Given the description of an element on the screen output the (x, y) to click on. 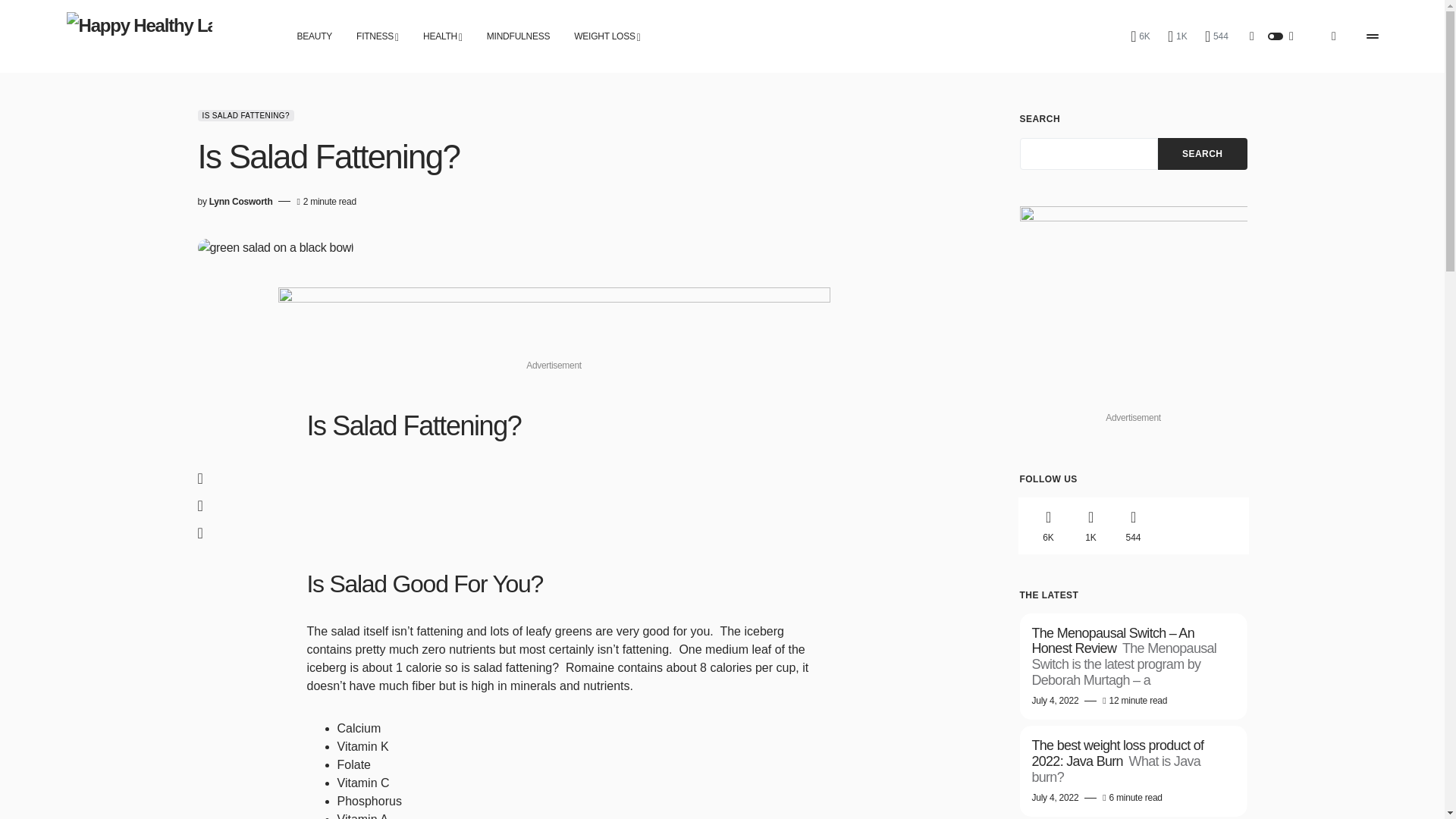
WEIGHT LOSS (606, 36)
View all posts by Lynn Cosworth (241, 201)
